Given the description of an element on the screen output the (x, y) to click on. 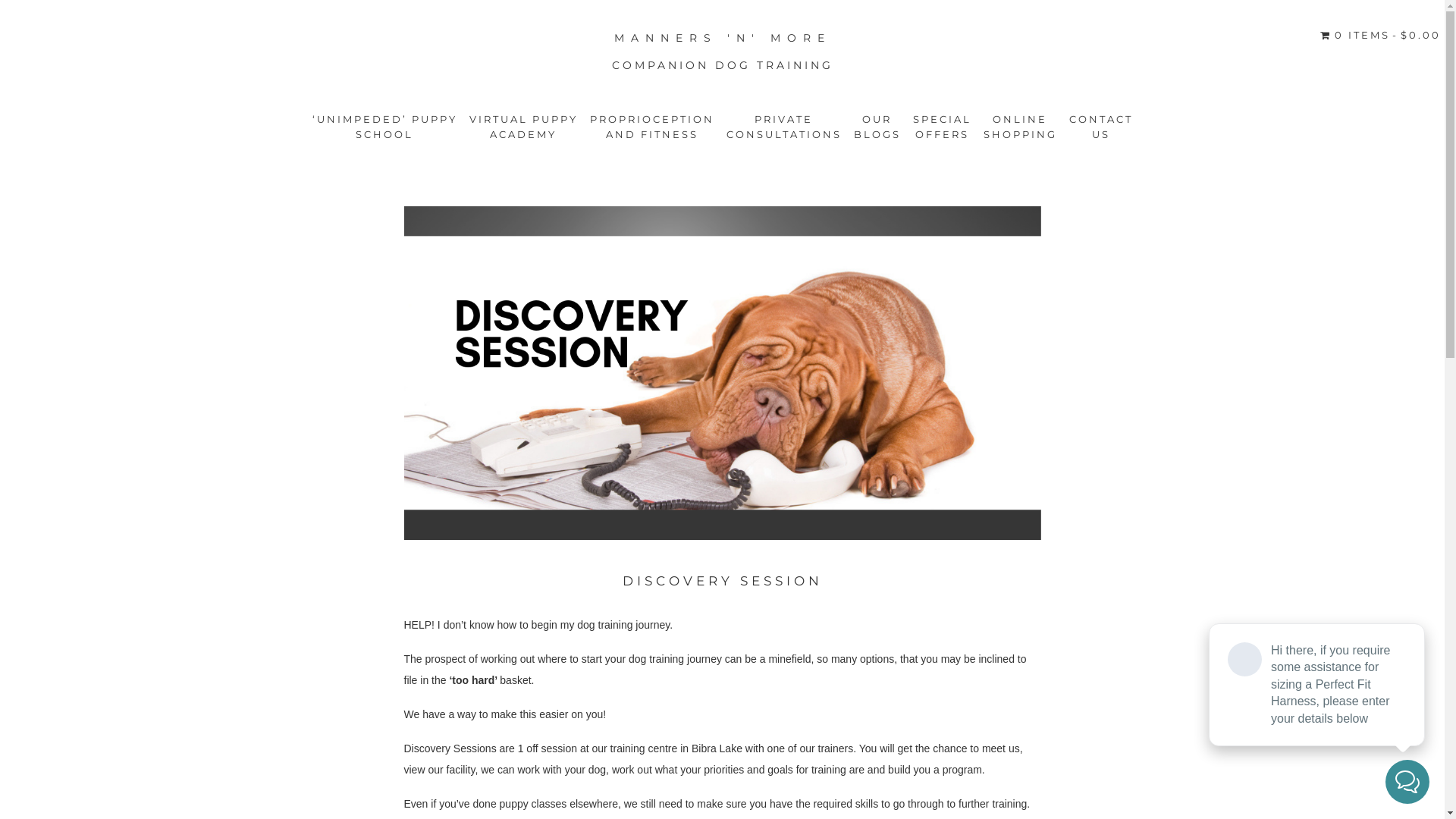
PRIVATE
CONSULTATIONS Element type: text (783, 126)
VIRTUAL PUPPY
ACADEMY Element type: text (522, 126)
MANNERS 'N' MORE Element type: text (722, 38)
0 ITEMS$0.00 Element type: text (1380, 34)
PROPRIOCEPTION
AND FITNESS Element type: text (651, 126)
OUR
BLOGS Element type: text (876, 126)
CONTACT
US Element type: text (1100, 126)
SPECIAL
OFFERS Element type: text (942, 126)
ONLINE
SHOPPING Element type: text (1019, 126)
